Given the description of an element on the screen output the (x, y) to click on. 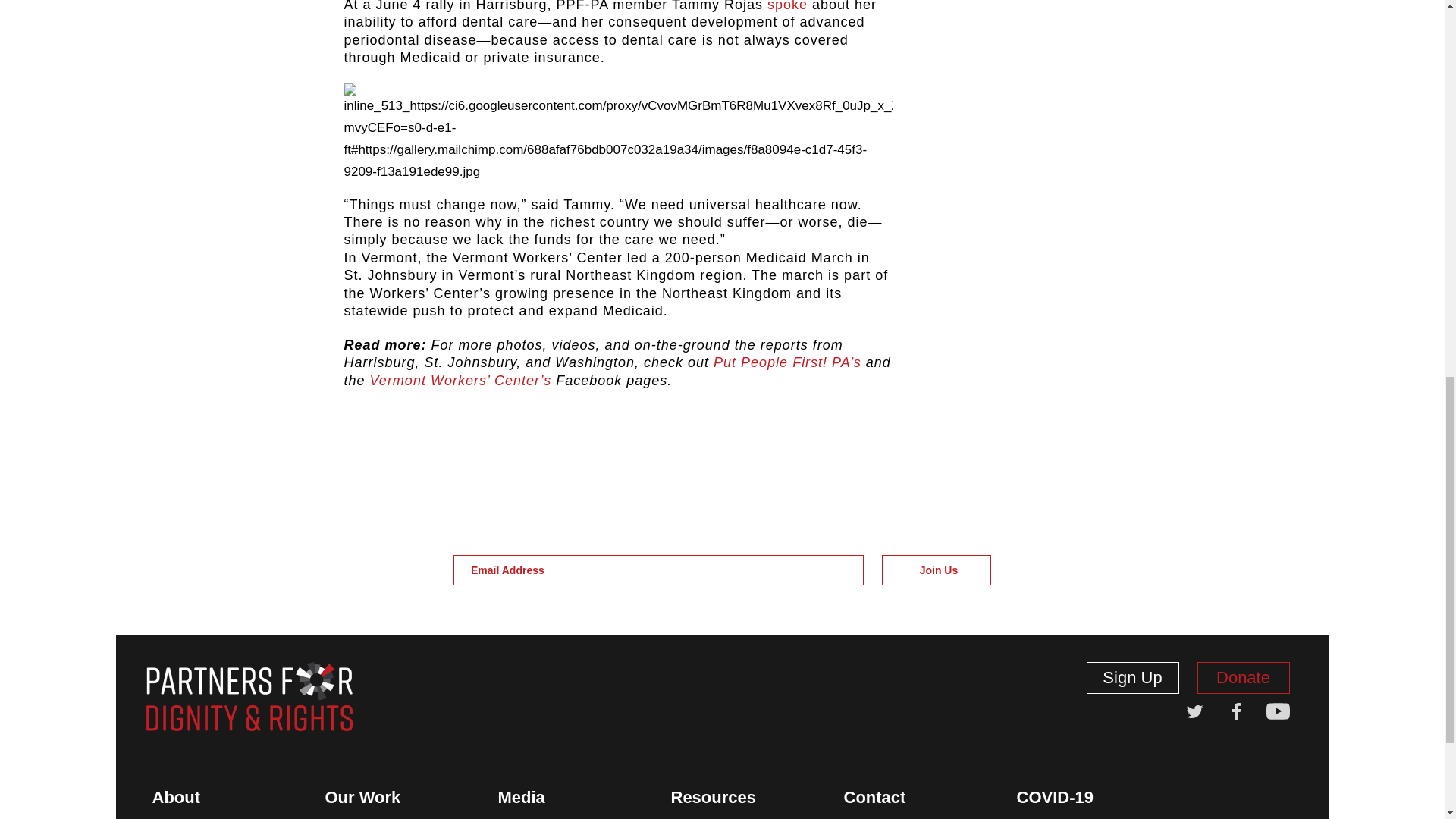
Join Us (936, 570)
About (175, 797)
Join Us (936, 570)
spoke (787, 6)
